Given the description of an element on the screen output the (x, y) to click on. 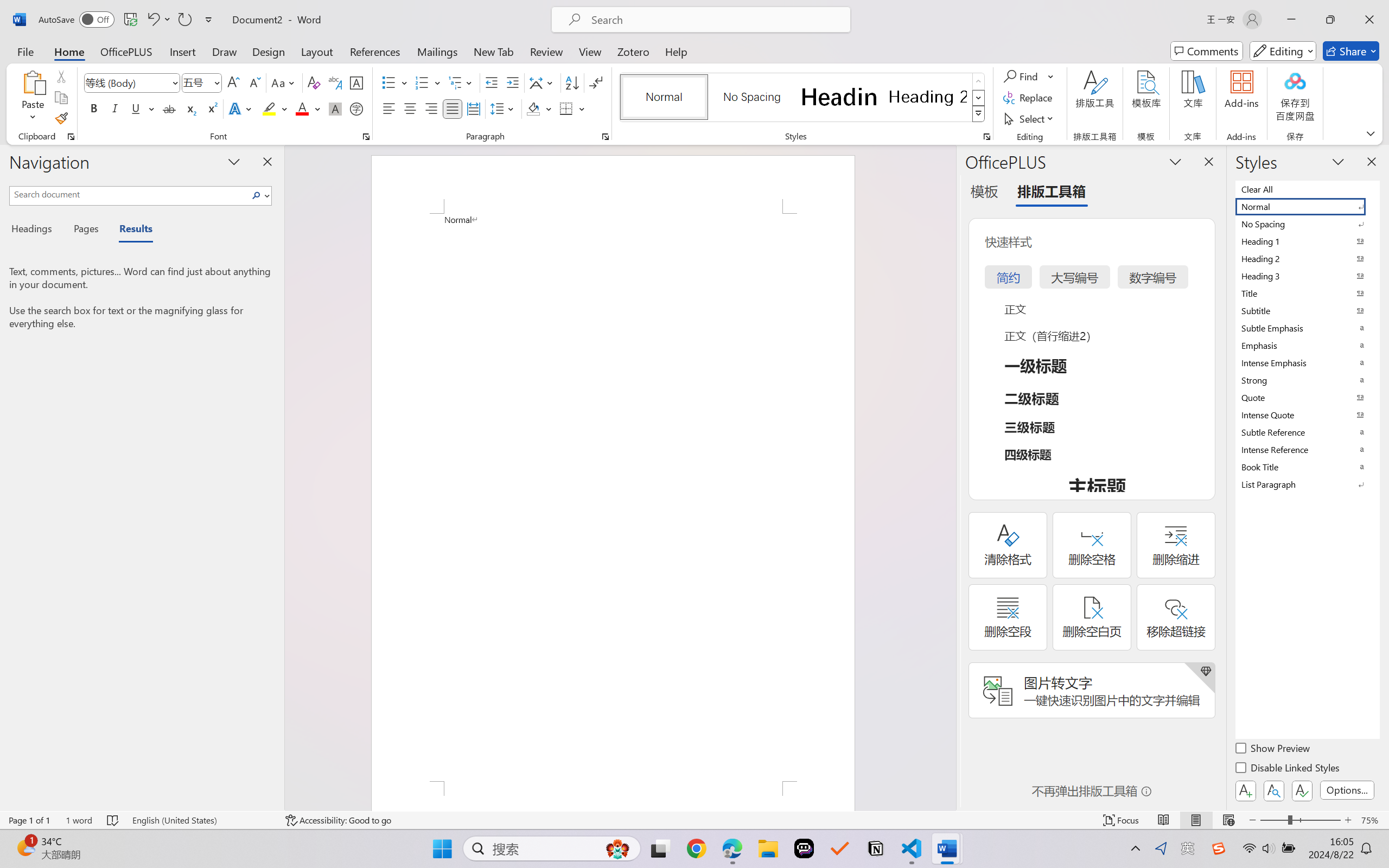
Justify (452, 108)
Align Right (431, 108)
Heading 1 (839, 96)
Subtle Reference (1306, 431)
Text Highlight Color Yellow (269, 108)
Microsoft search (715, 19)
Print Layout (1196, 819)
Results (130, 229)
Intense Reference (1306, 449)
Layout (316, 51)
Search (259, 195)
